Given the description of an element on the screen output the (x, y) to click on. 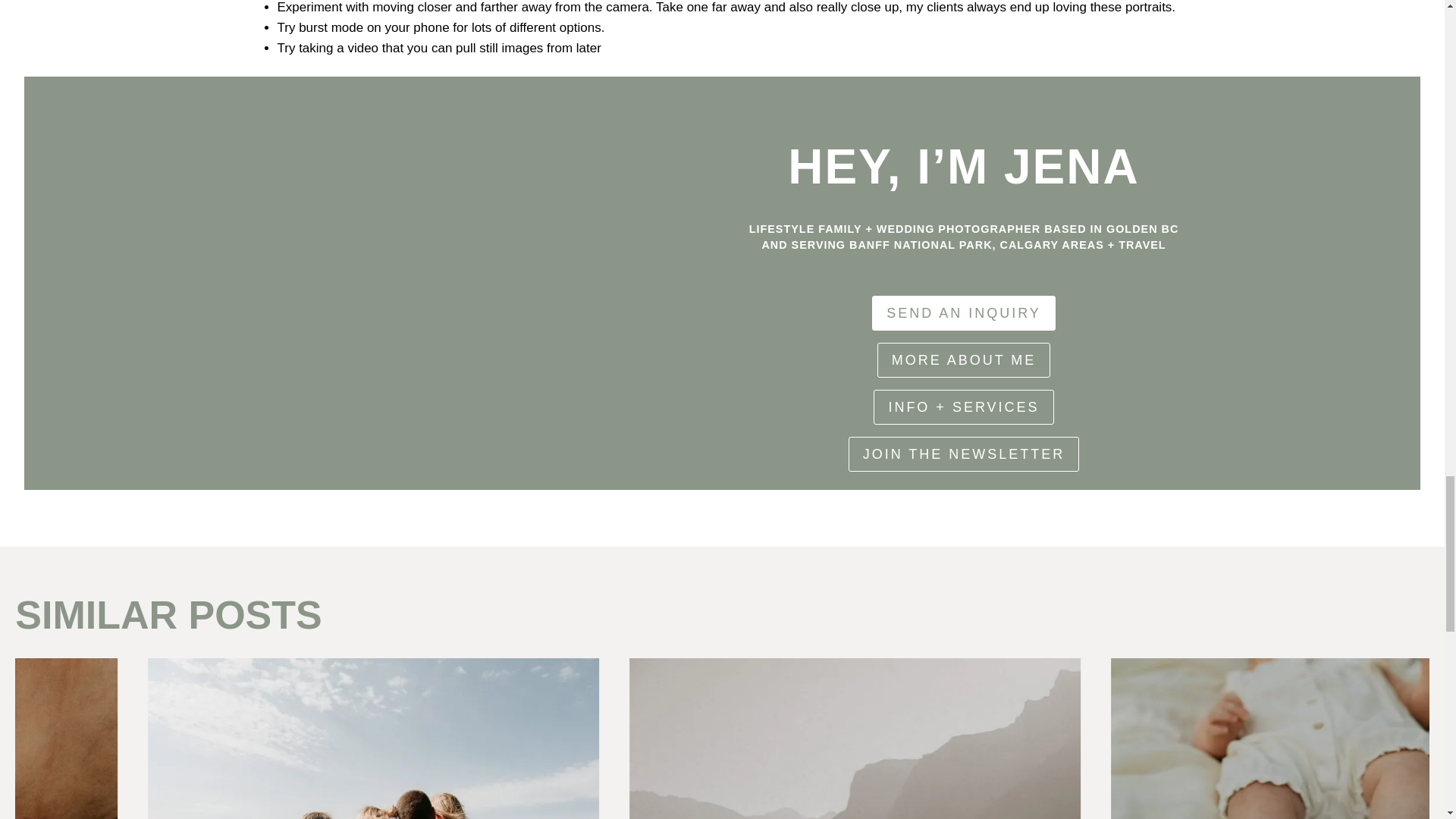
JOIN THE NEWSLETTER (964, 453)
SEND AN INQUIRY (963, 312)
MORE ABOUT ME (964, 360)
